Given the description of an element on the screen output the (x, y) to click on. 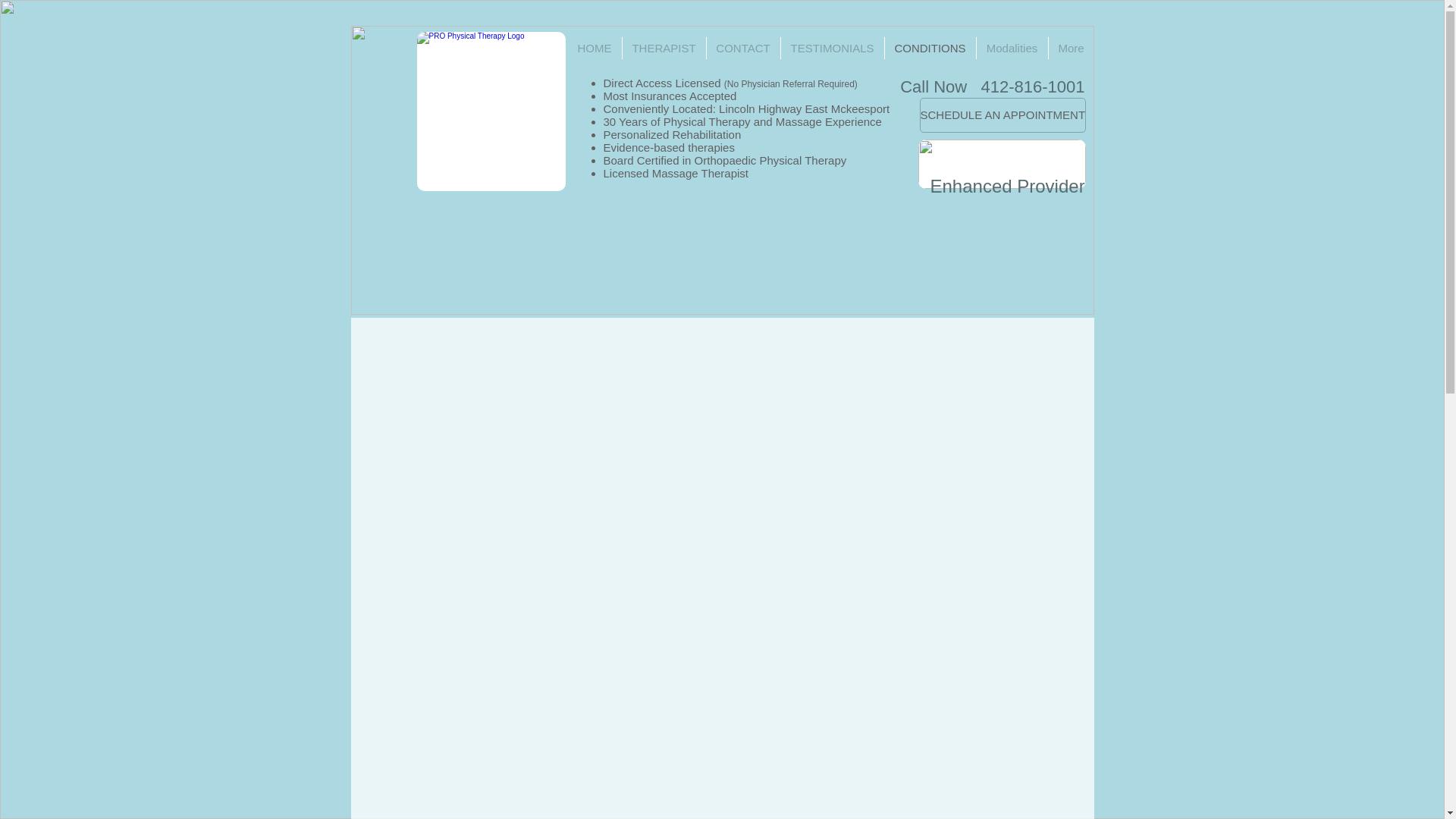
PRO Physical Therapy Logo (491, 110)
CONDITIONS (929, 47)
THERAPIST (662, 47)
HOME (594, 47)
TESTIMONIALS (831, 47)
SCHEDULE AN APPOINTMENT (1002, 114)
CONTACT (743, 47)
Modalities (1012, 47)
